Given the description of an element on the screen output the (x, y) to click on. 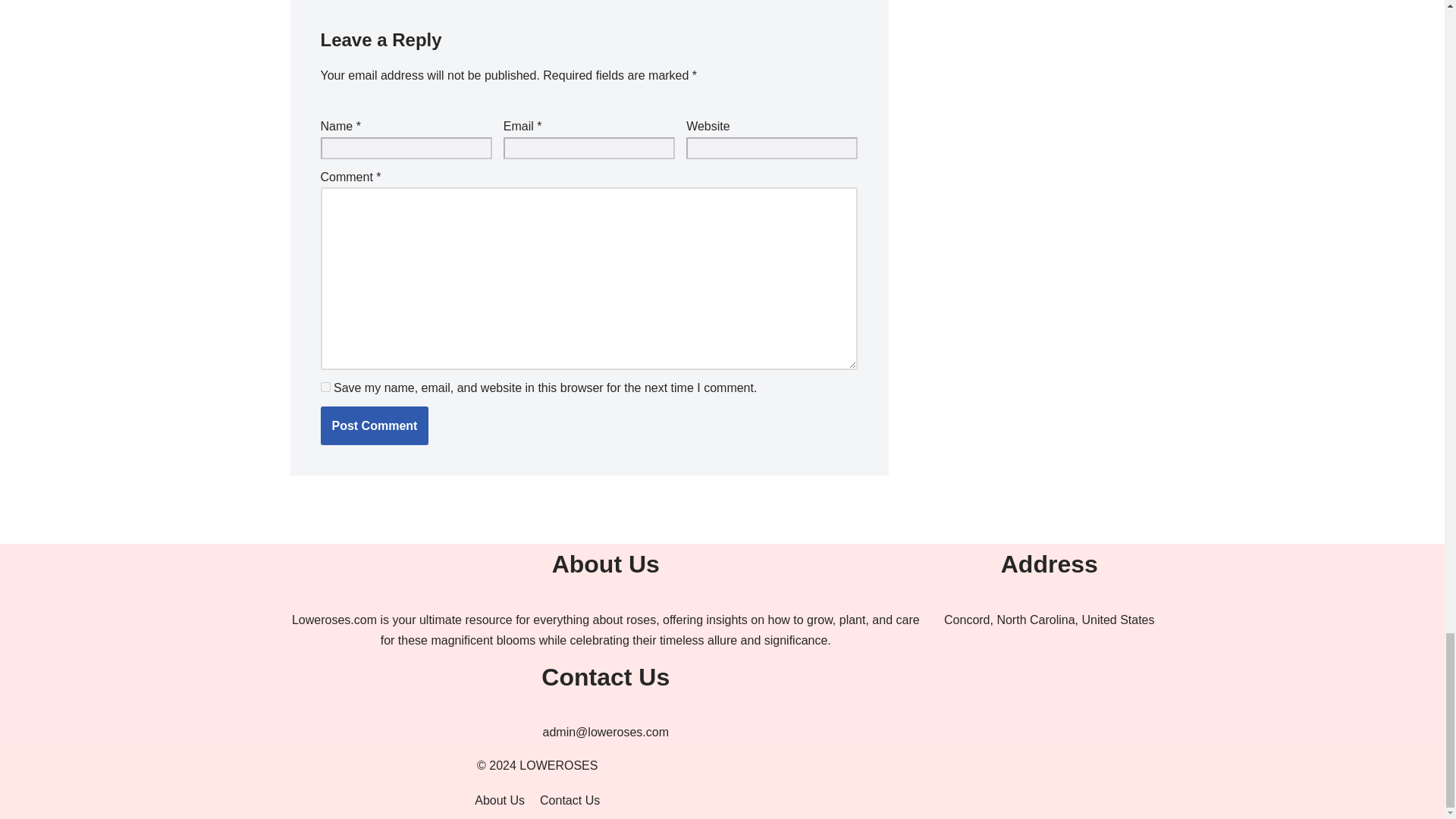
Post Comment (374, 425)
About Us (499, 800)
yes (325, 387)
Contact Us (569, 800)
Post Comment (374, 425)
